Given the description of an element on the screen output the (x, y) to click on. 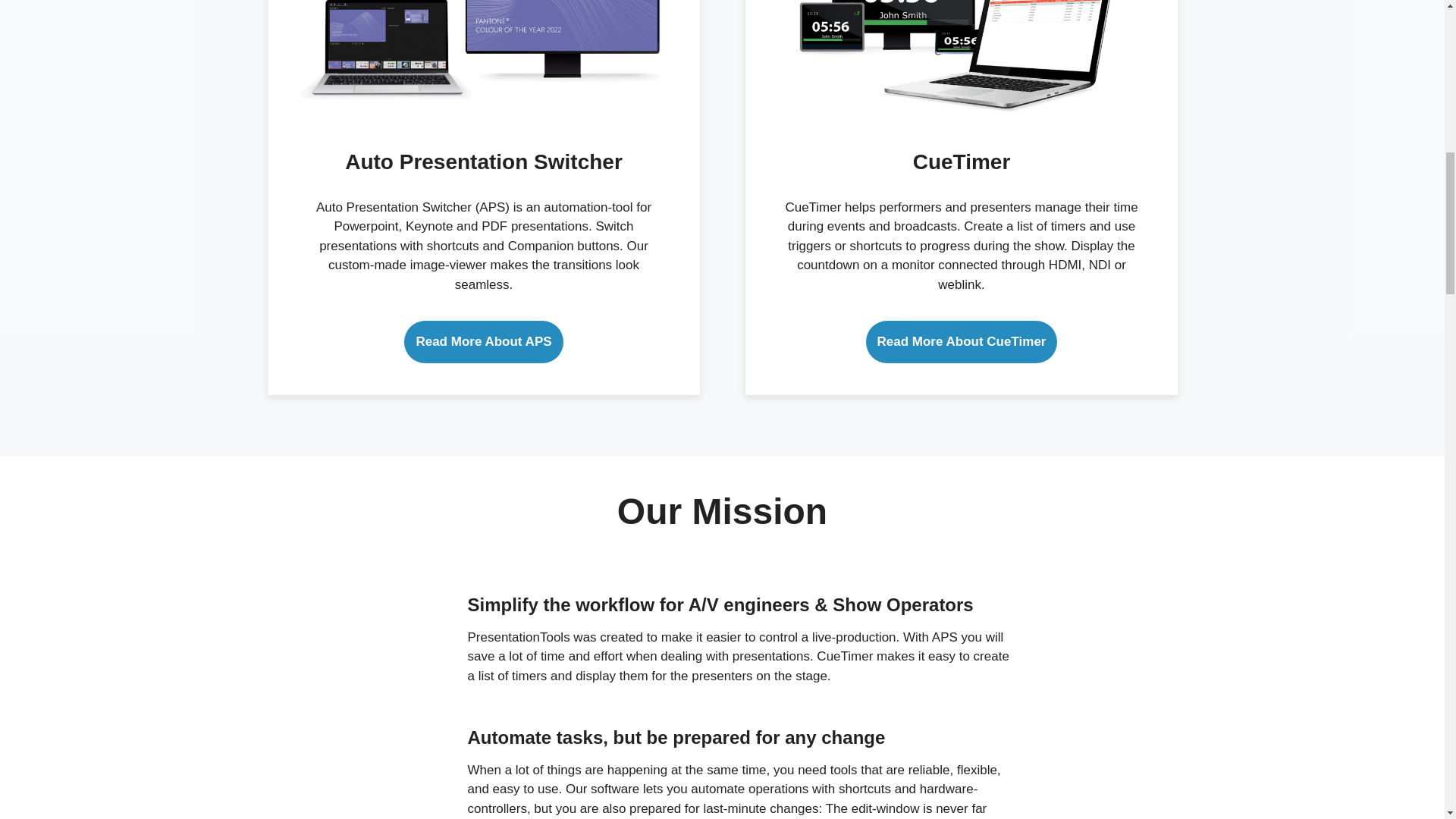
Read More About CueTimer (961, 341)
Read More About APS (483, 341)
